Given the description of an element on the screen output the (x, y) to click on. 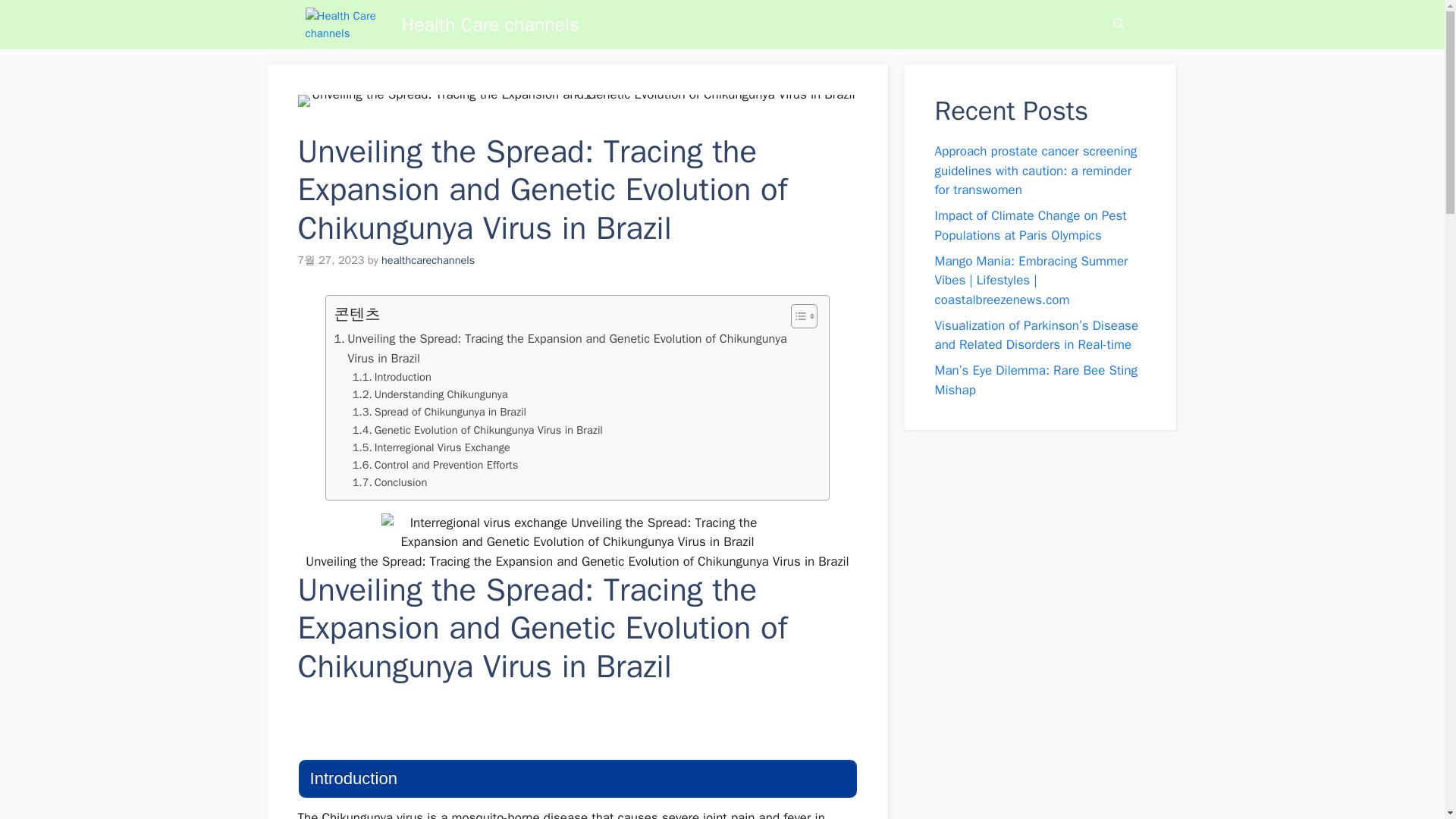
healthcarechannels (427, 259)
Spread of Chikungunya in Brazil (438, 411)
Understanding Chikungunya (430, 394)
View all posts by healthcarechannels (427, 259)
Health Care channels (490, 24)
Control and Prevention Efforts (435, 465)
Conclusion (390, 482)
